Given the description of an element on the screen output the (x, y) to click on. 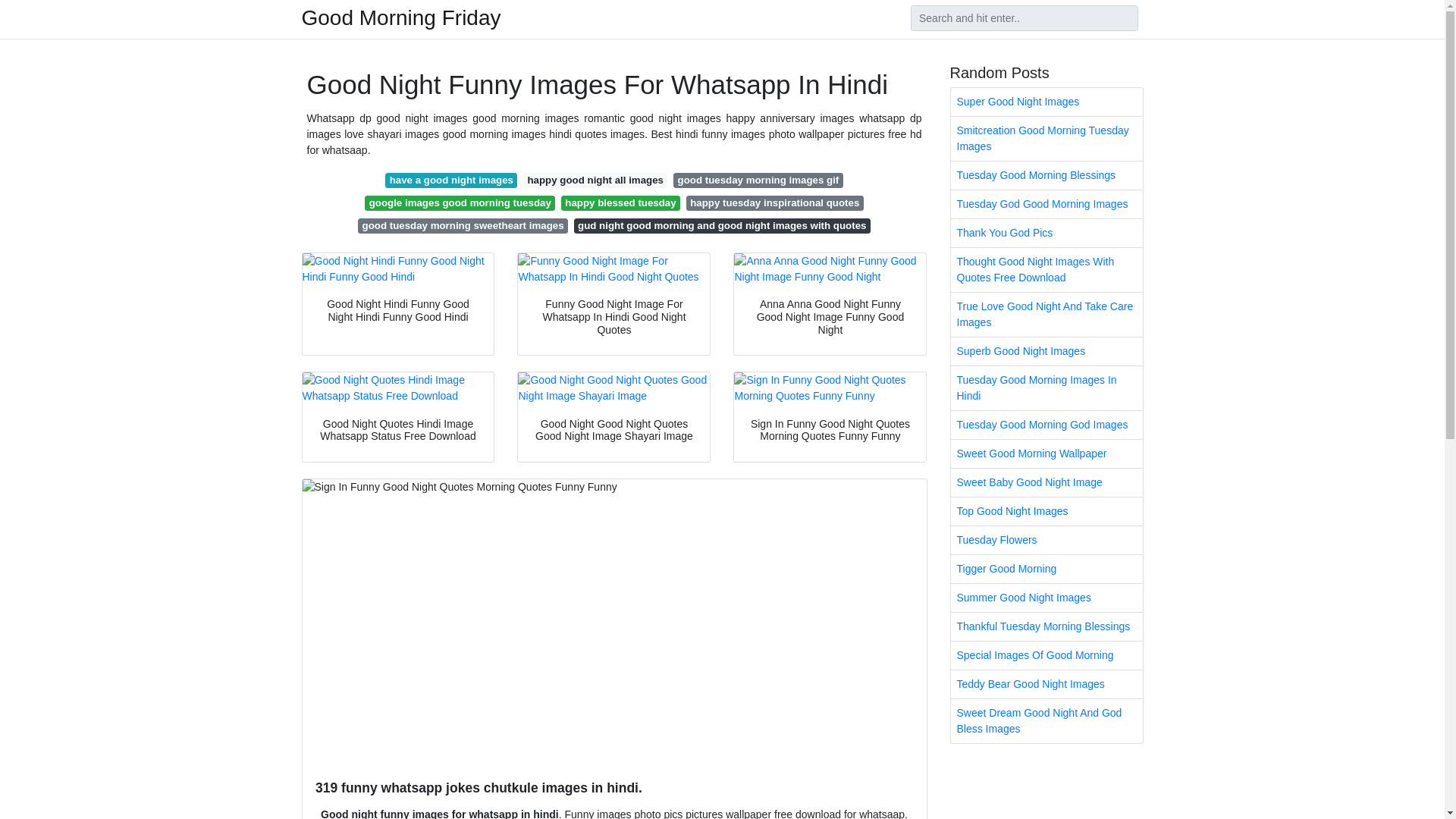
good tuesday morning images gif (757, 180)
good tuesday morning sweetheart images (462, 225)
Special Images Of Good Morning (1046, 655)
google images good morning tuesday (459, 202)
Smitcreation Good Morning Tuesday Images (1046, 138)
gud night good morning and good night images with quotes (721, 225)
Tuesday Good Morning God Images (1046, 424)
happy tuesday inspirational quotes (774, 202)
Good Morning Friday (400, 18)
happy good night all images (594, 180)
